Given the description of an element on the screen output the (x, y) to click on. 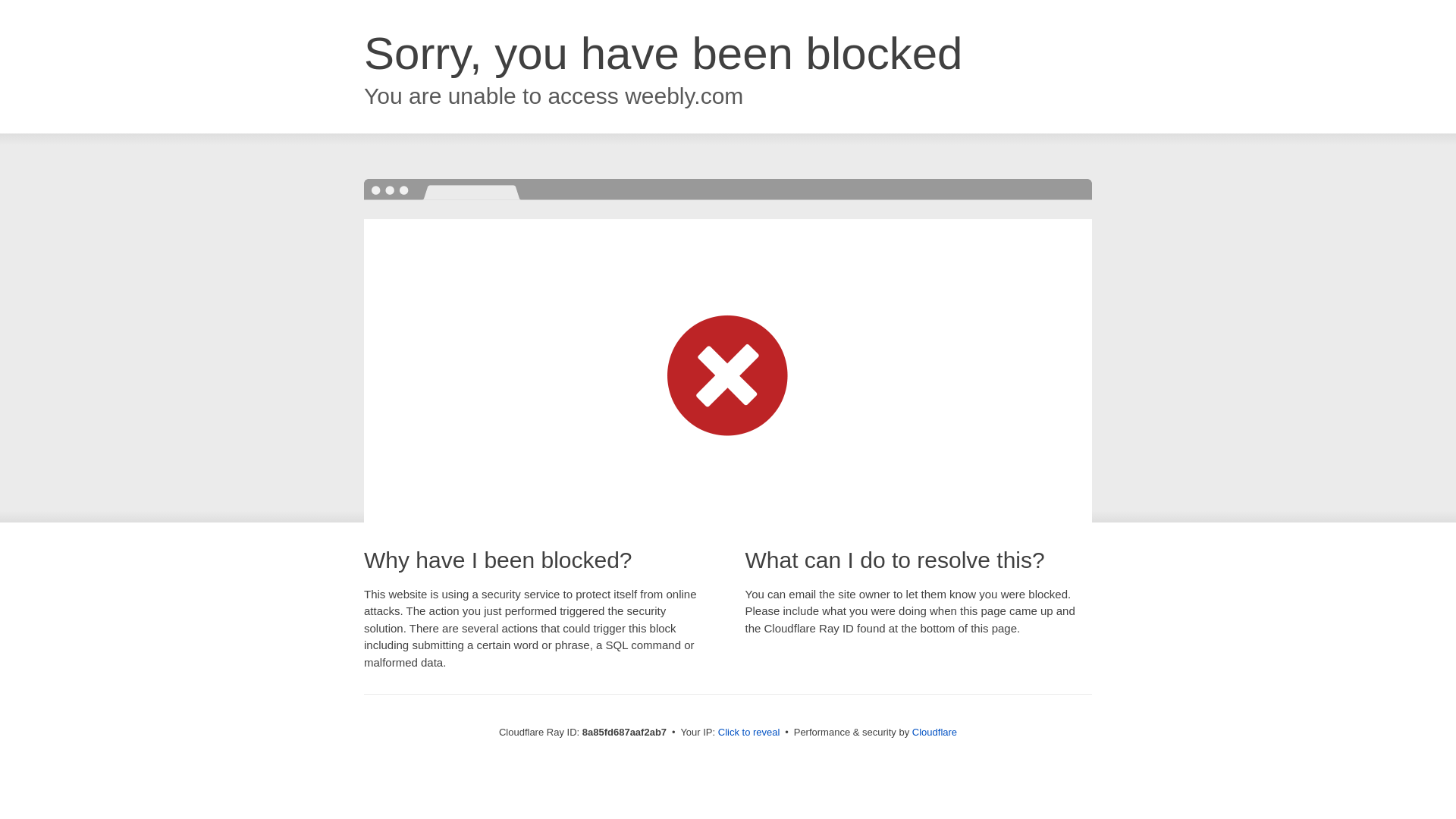
Click to reveal (748, 732)
Cloudflare (934, 731)
